Given the description of an element on the screen output the (x, y) to click on. 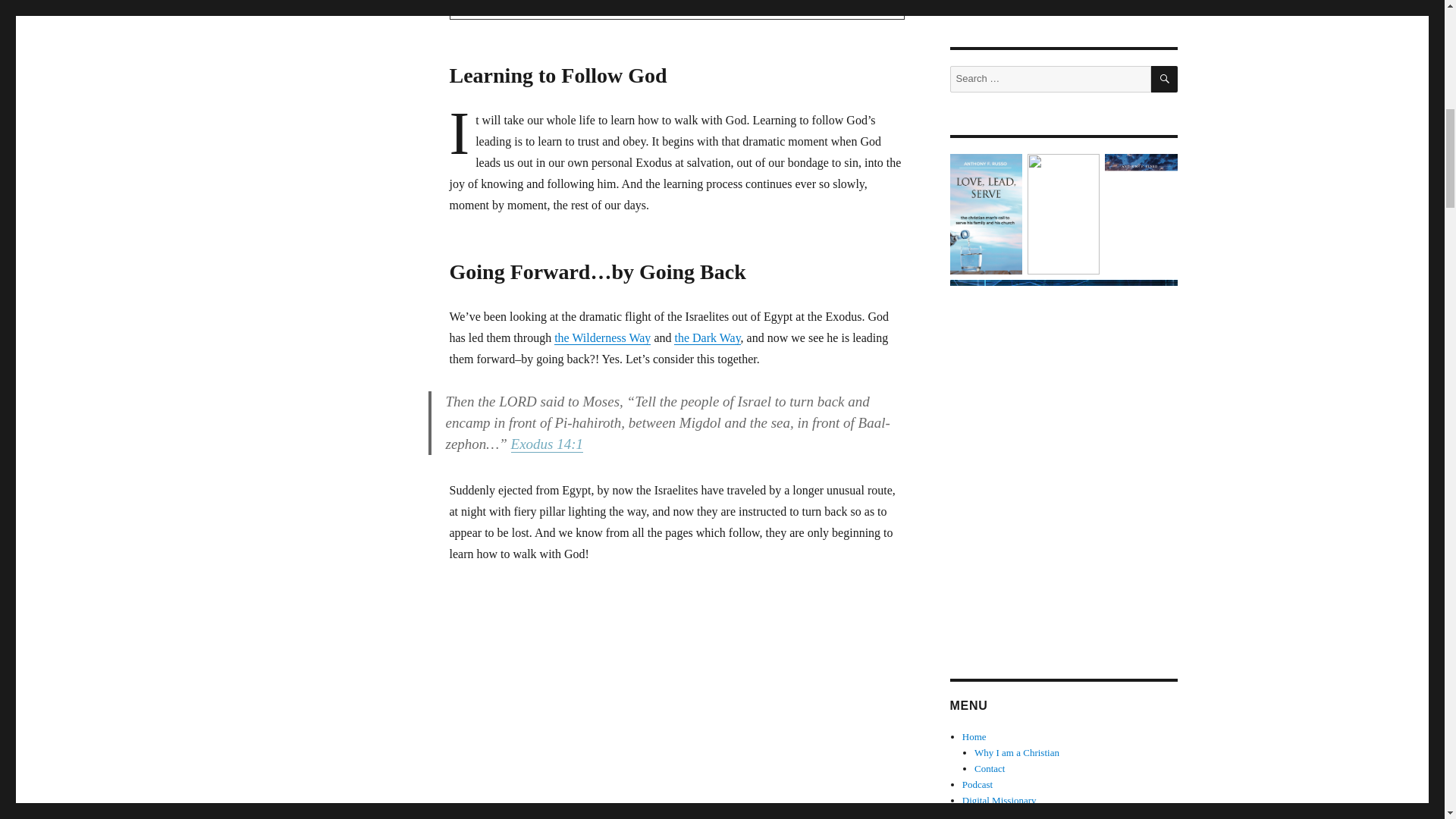
the Dark Way (706, 337)
Exodus 14:1 (547, 443)
the Wilderness Way (602, 337)
